Given the description of an element on the screen output the (x, y) to click on. 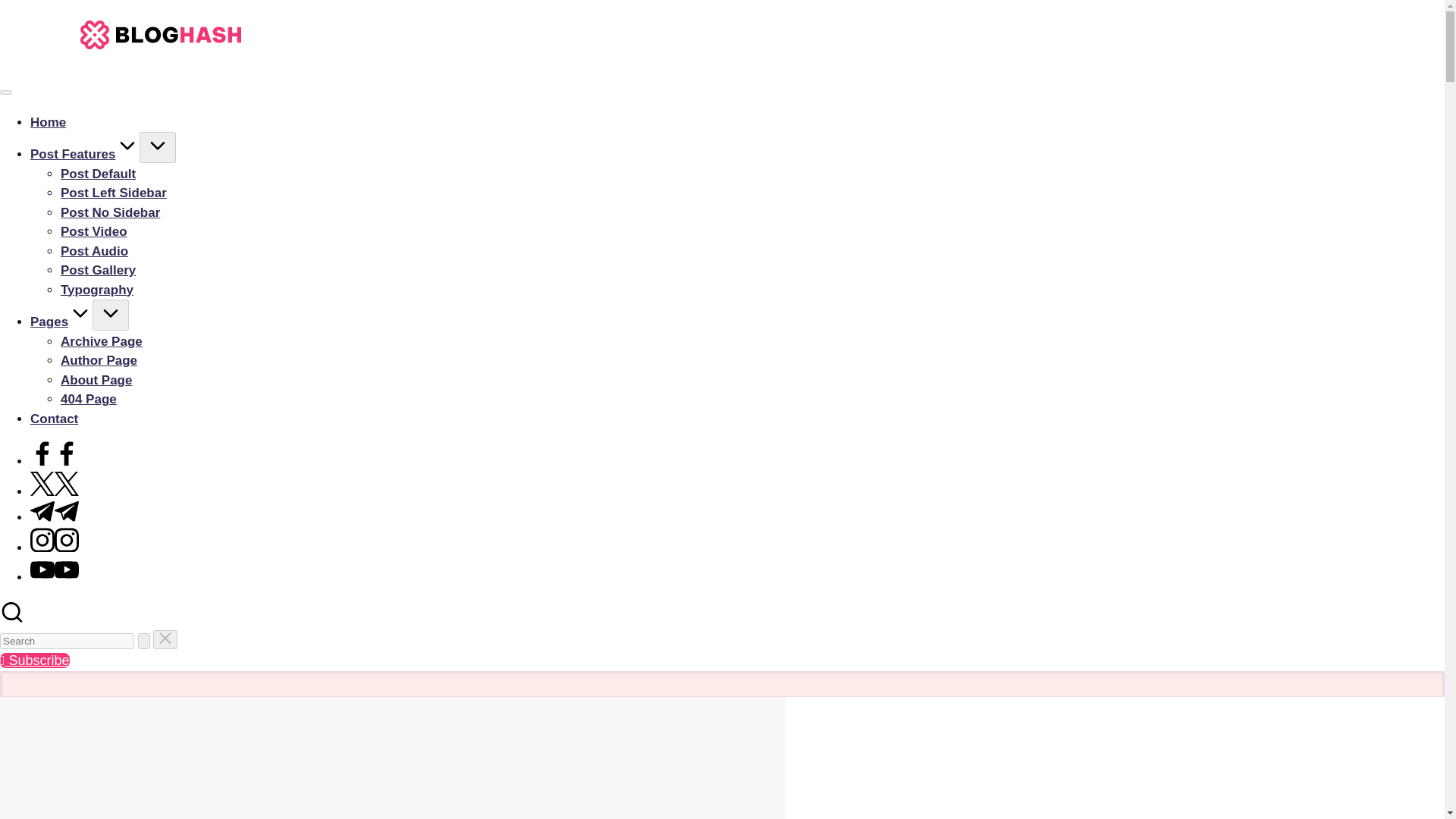
Archive Page (101, 340)
Post No Sidebar (110, 211)
Home (47, 122)
Pages (61, 321)
Facebook (54, 461)
Youtube (54, 577)
Twitter (54, 490)
Telegram (54, 517)
Twitter (54, 490)
Post Features (84, 154)
About Page (96, 380)
Author Page (98, 359)
Youtube (54, 577)
Contact (54, 418)
Post Default (98, 173)
